Given the description of an element on the screen output the (x, y) to click on. 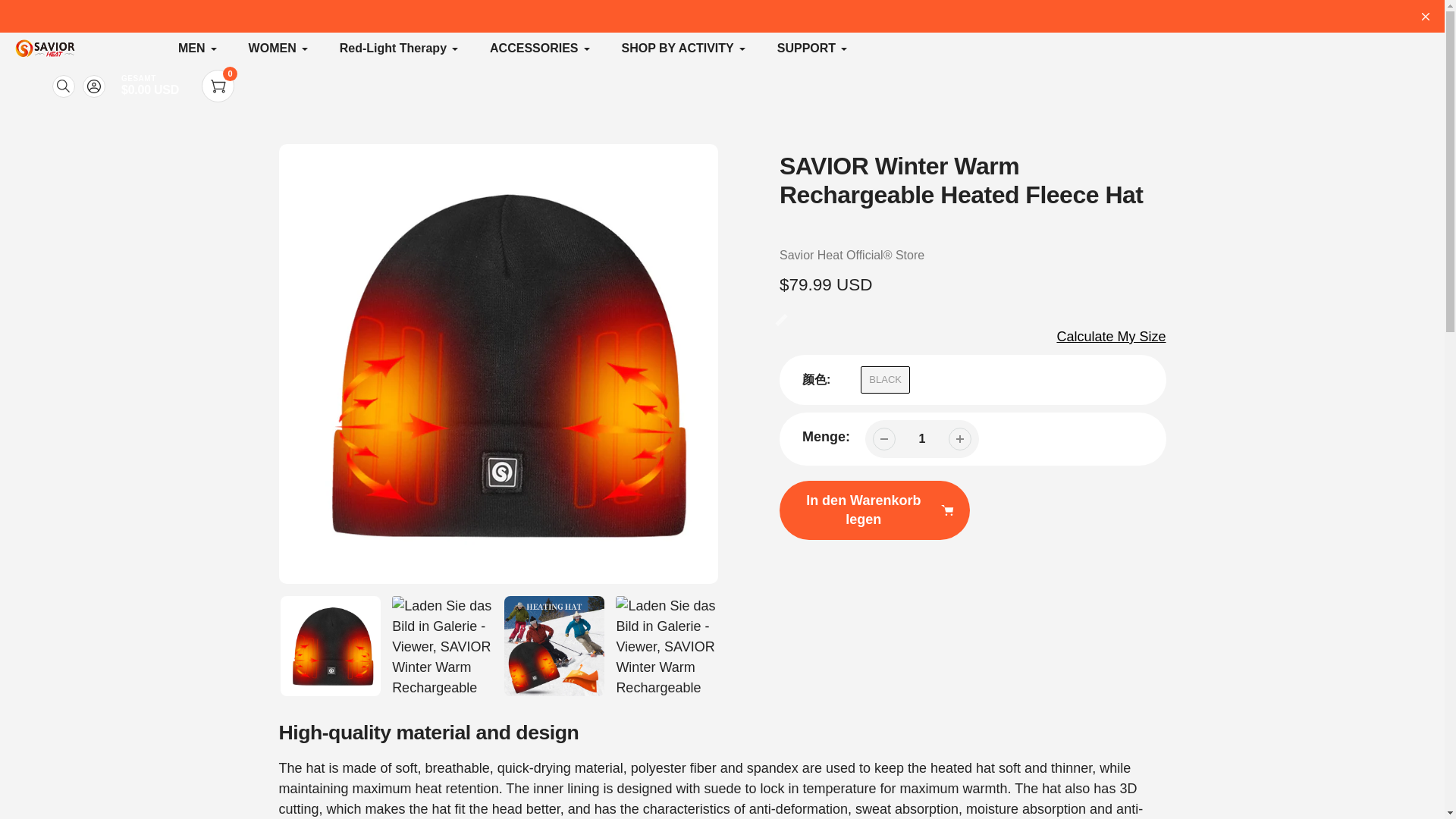
Red-Light Therapy (399, 48)
ACCESSORIES (540, 48)
WOMEN (278, 48)
MEN (197, 48)
1 (922, 438)
